Given the description of an element on the screen output the (x, y) to click on. 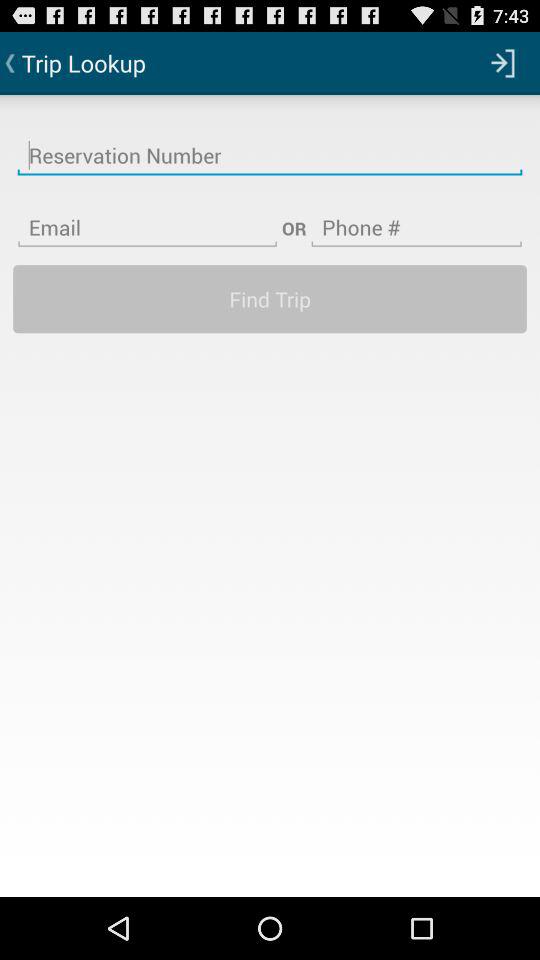
insert the reservation number (269, 143)
